Given the description of an element on the screen output the (x, y) to click on. 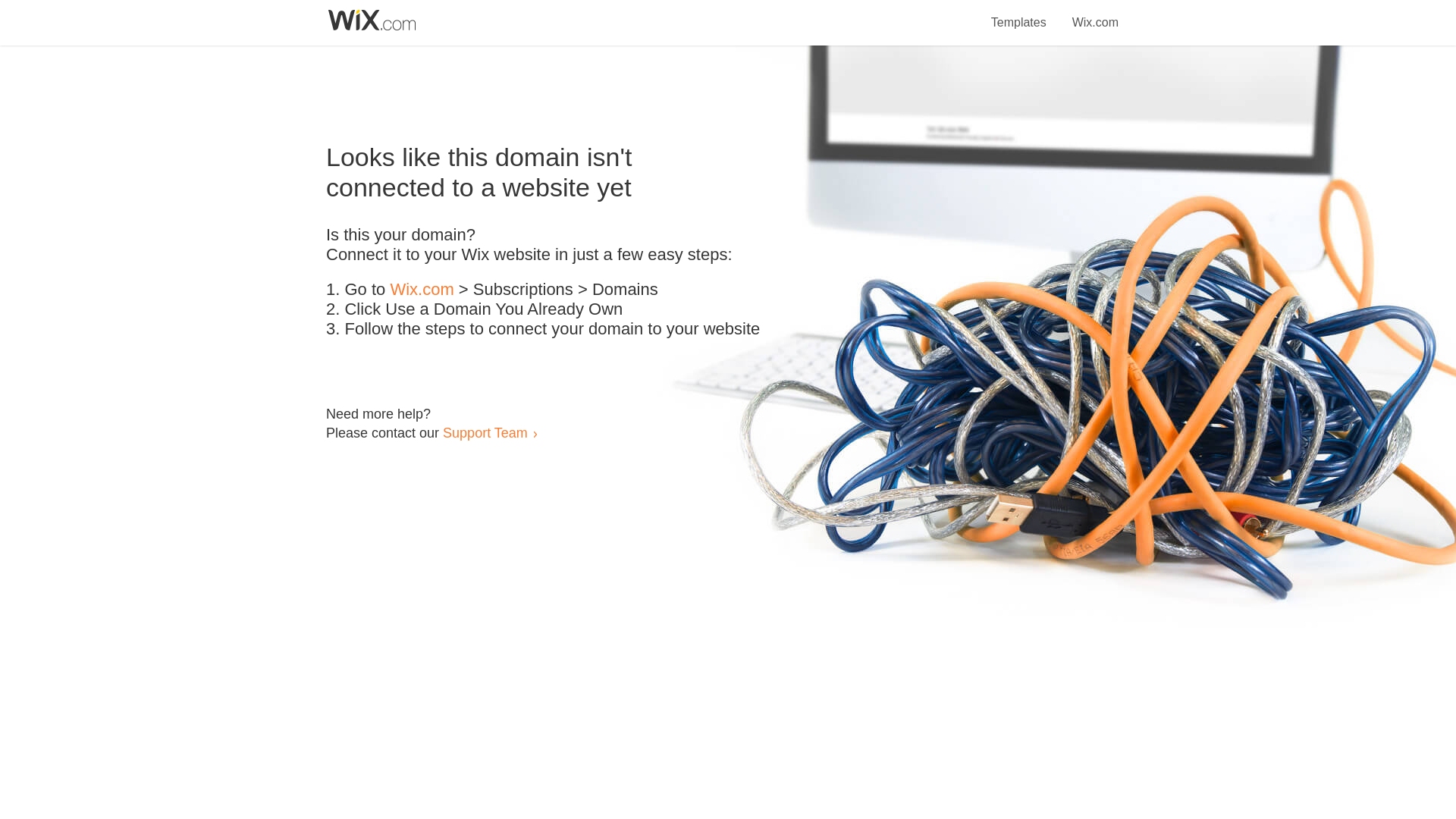
Support Team (484, 432)
Wix.com (1095, 14)
Templates (1018, 14)
Wix.com (421, 289)
